Given the description of an element on the screen output the (x, y) to click on. 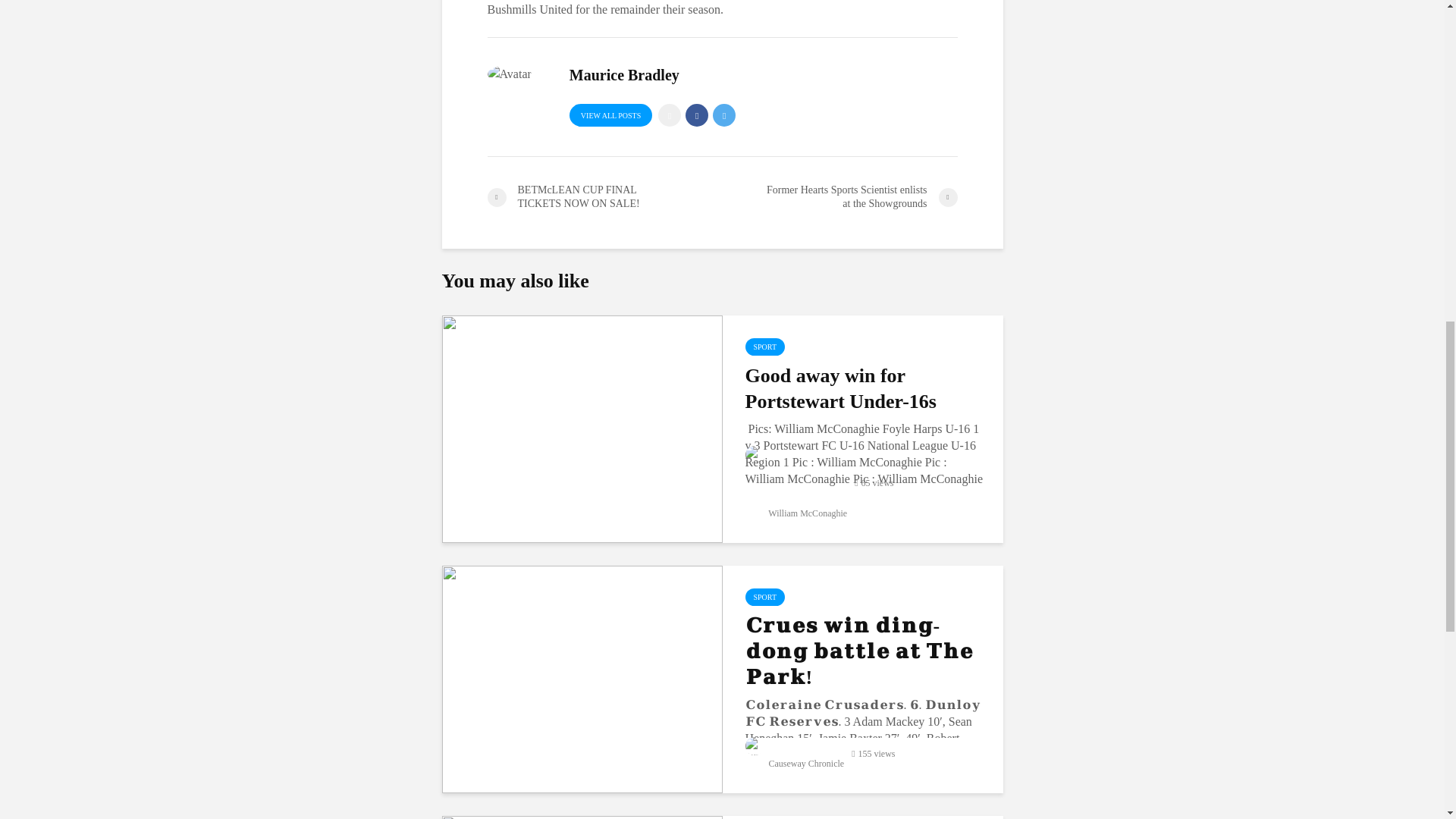
Causeway Chronicle (794, 763)
VIEW ALL POSTS (610, 115)
William McConaghie (795, 512)
Former Hearts Sports Scientist enlists at the Showgrounds (839, 196)
Good away win for Portstewart Under-16s (581, 427)
BETMcLEAN CUP FINAL TICKETS NOW ON SALE! (604, 196)
Good away win for Portstewart Under-16s (864, 388)
SPORT (764, 346)
SPORT (764, 597)
